Given the description of an element on the screen output the (x, y) to click on. 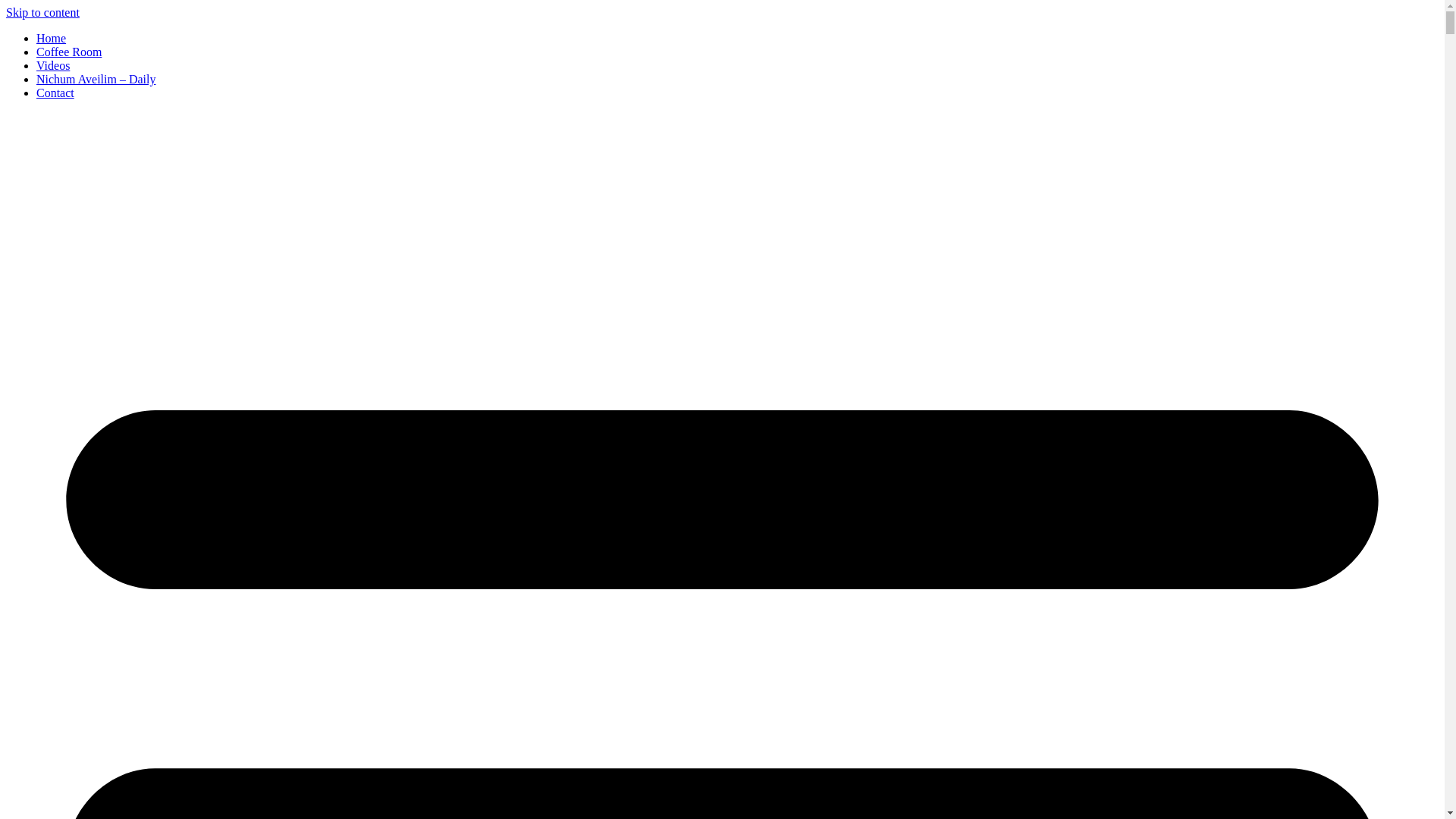
Coffee Room (68, 51)
Contact (55, 92)
Skip to content (42, 11)
Videos (52, 65)
Home (50, 38)
